Given the description of an element on the screen output the (x, y) to click on. 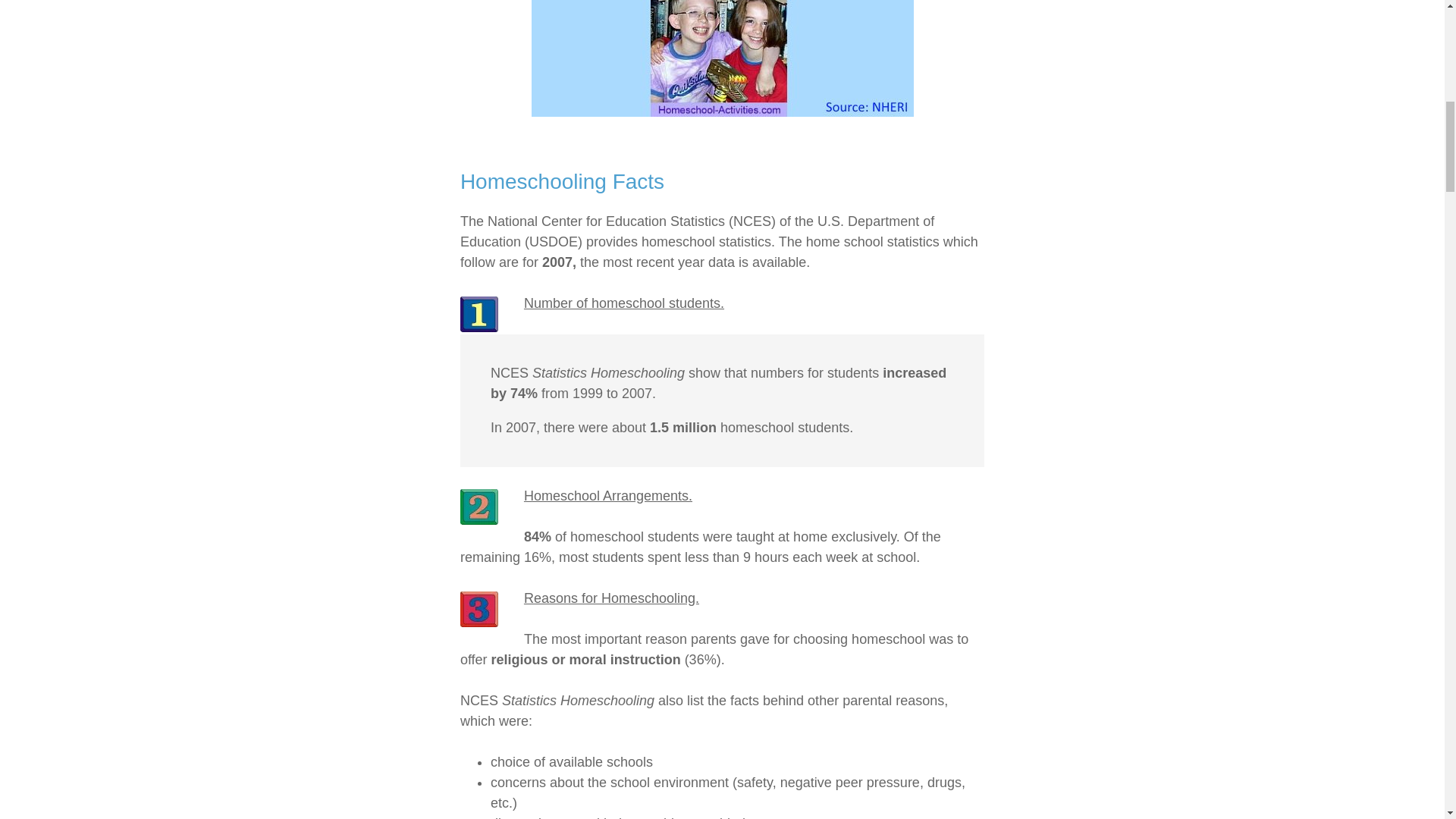
homeschooling statistics (721, 58)
two (478, 506)
one (478, 314)
three (478, 609)
